Given the description of an element on the screen output the (x, y) to click on. 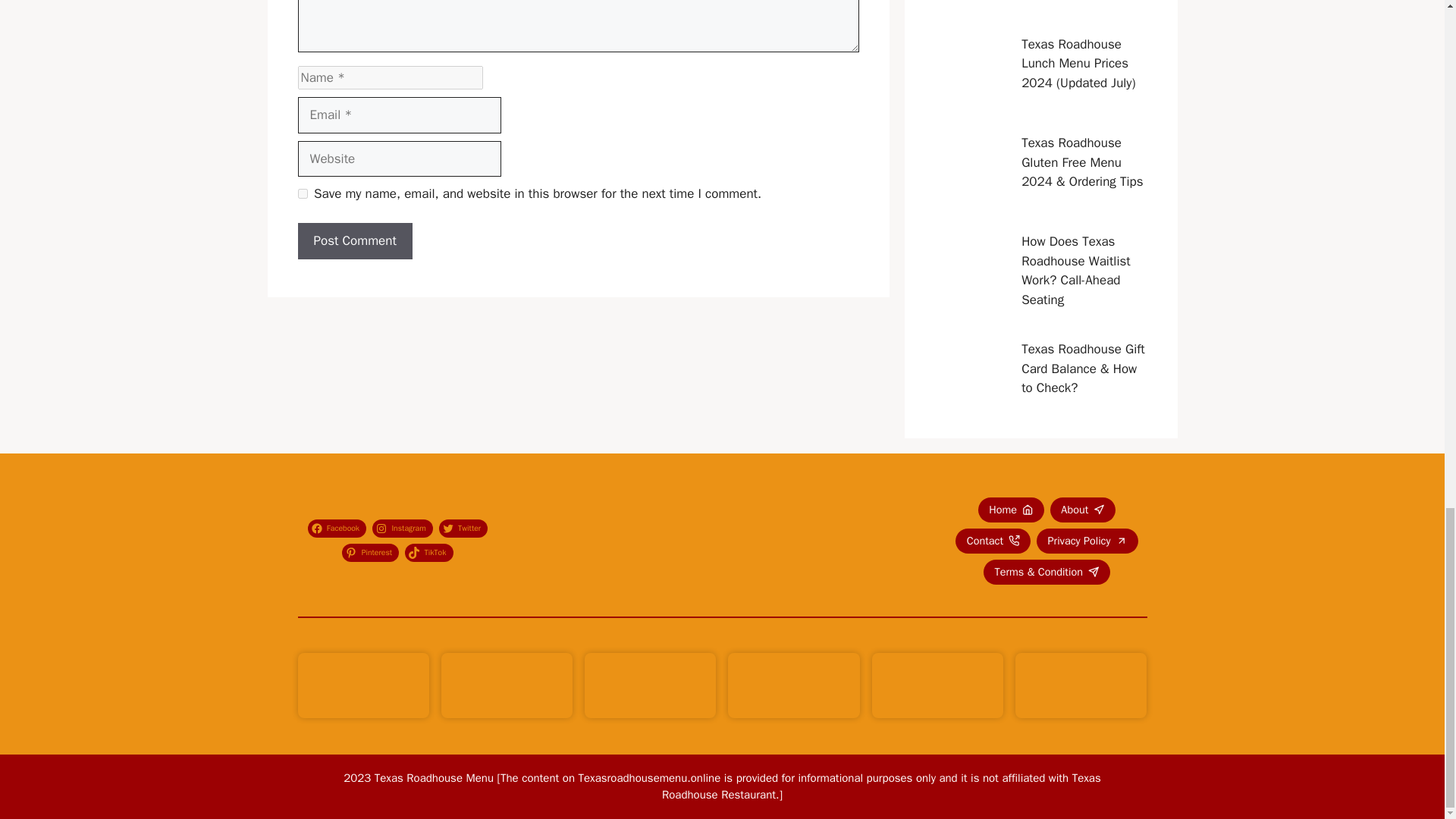
Post Comment (354, 240)
yes (302, 194)
Post Comment (354, 240)
